Given the description of an element on the screen output the (x, y) to click on. 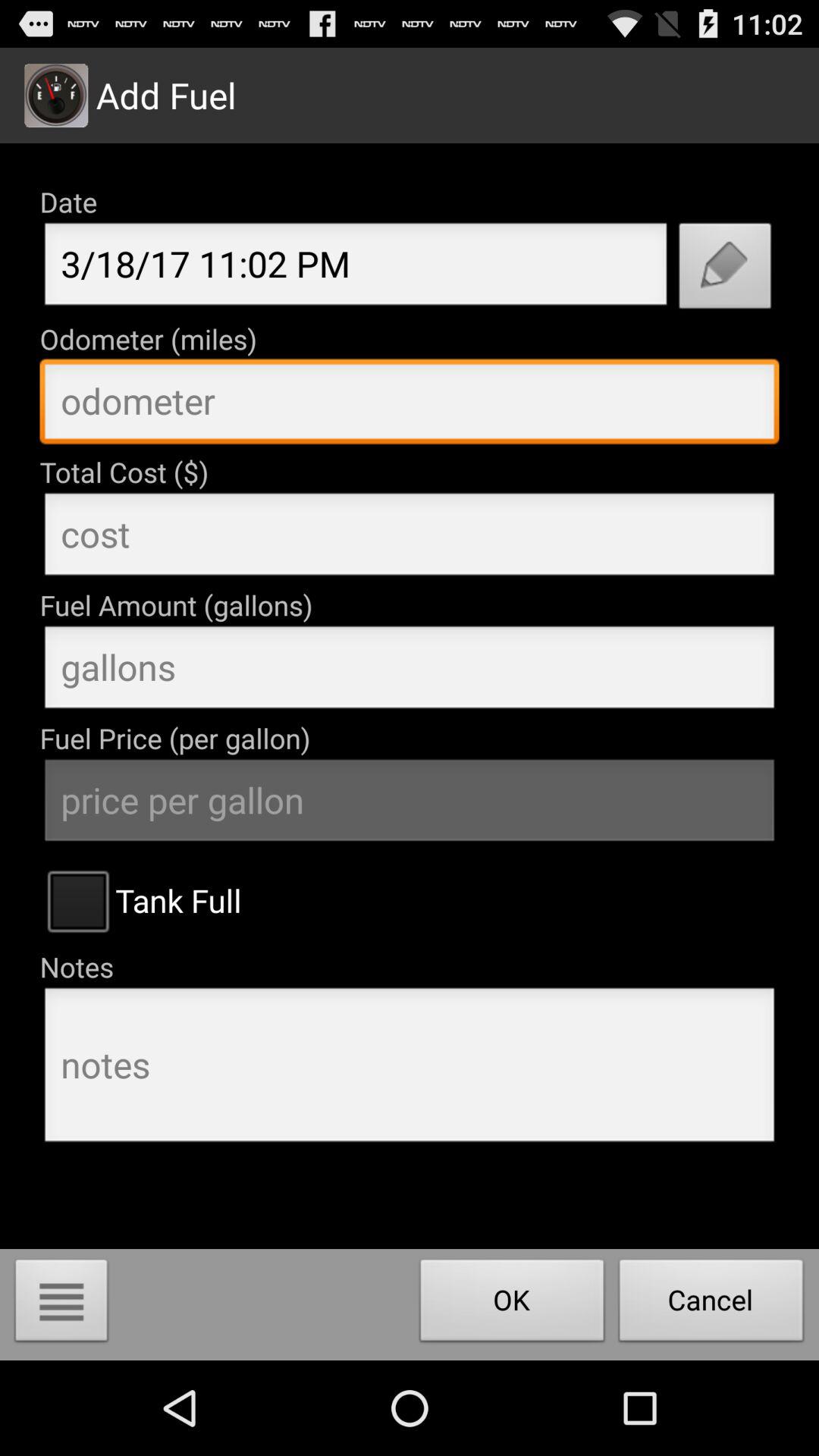
enter fuel amount (409, 671)
